Given the description of an element on the screen output the (x, y) to click on. 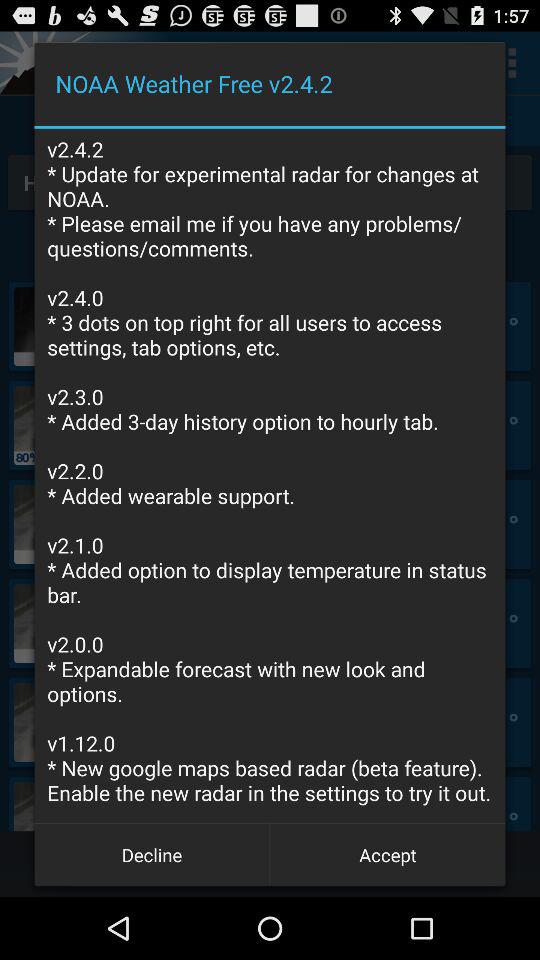
tap the icon below the v2 4 2 app (151, 854)
